Given the description of an element on the screen output the (x, y) to click on. 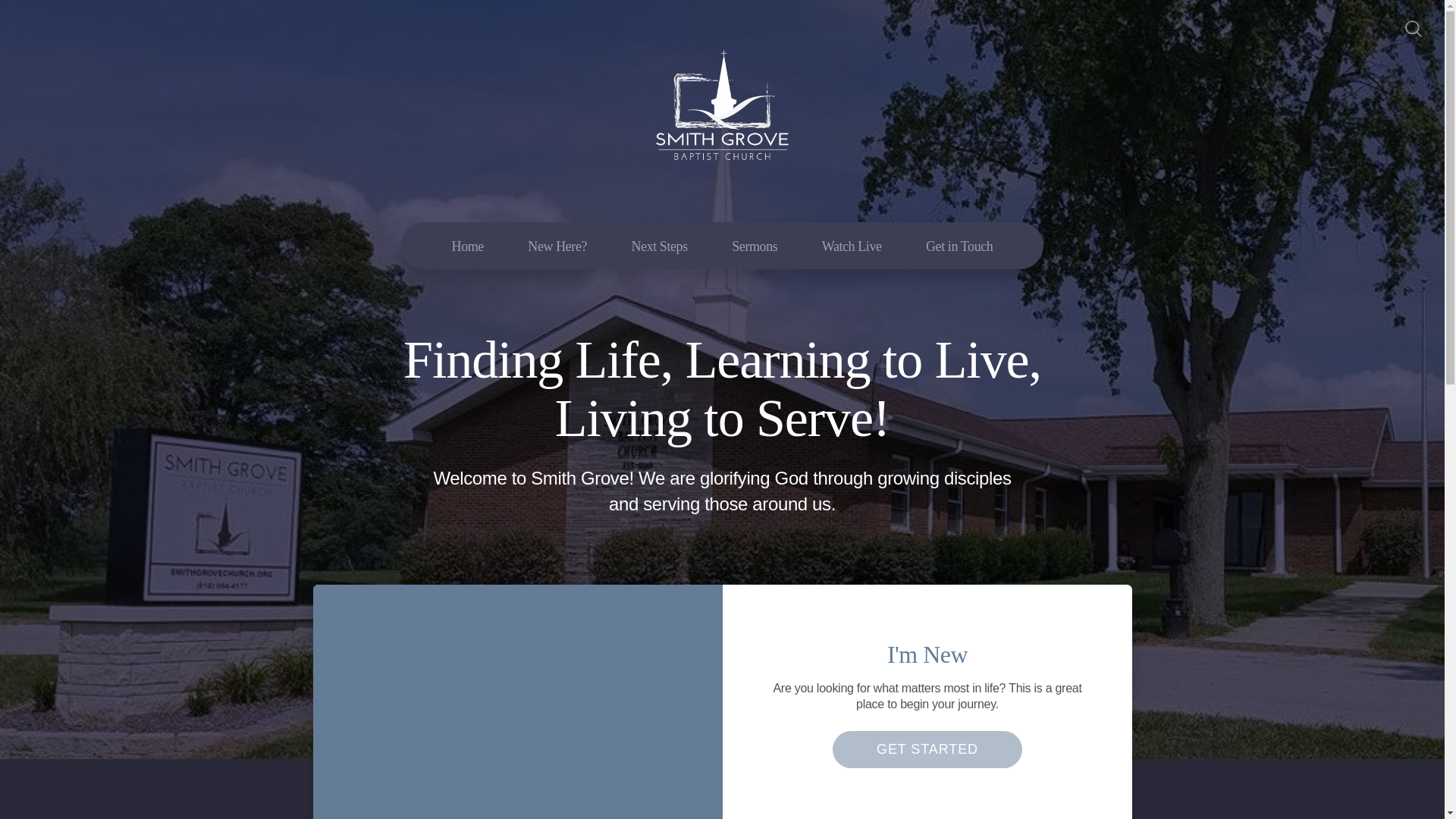
New Here? (556, 245)
Get in Touch (959, 245)
Home (466, 245)
Next Steps (658, 245)
Sermons (754, 245)
Watch Live (852, 245)
